Given the description of an element on the screen output the (x, y) to click on. 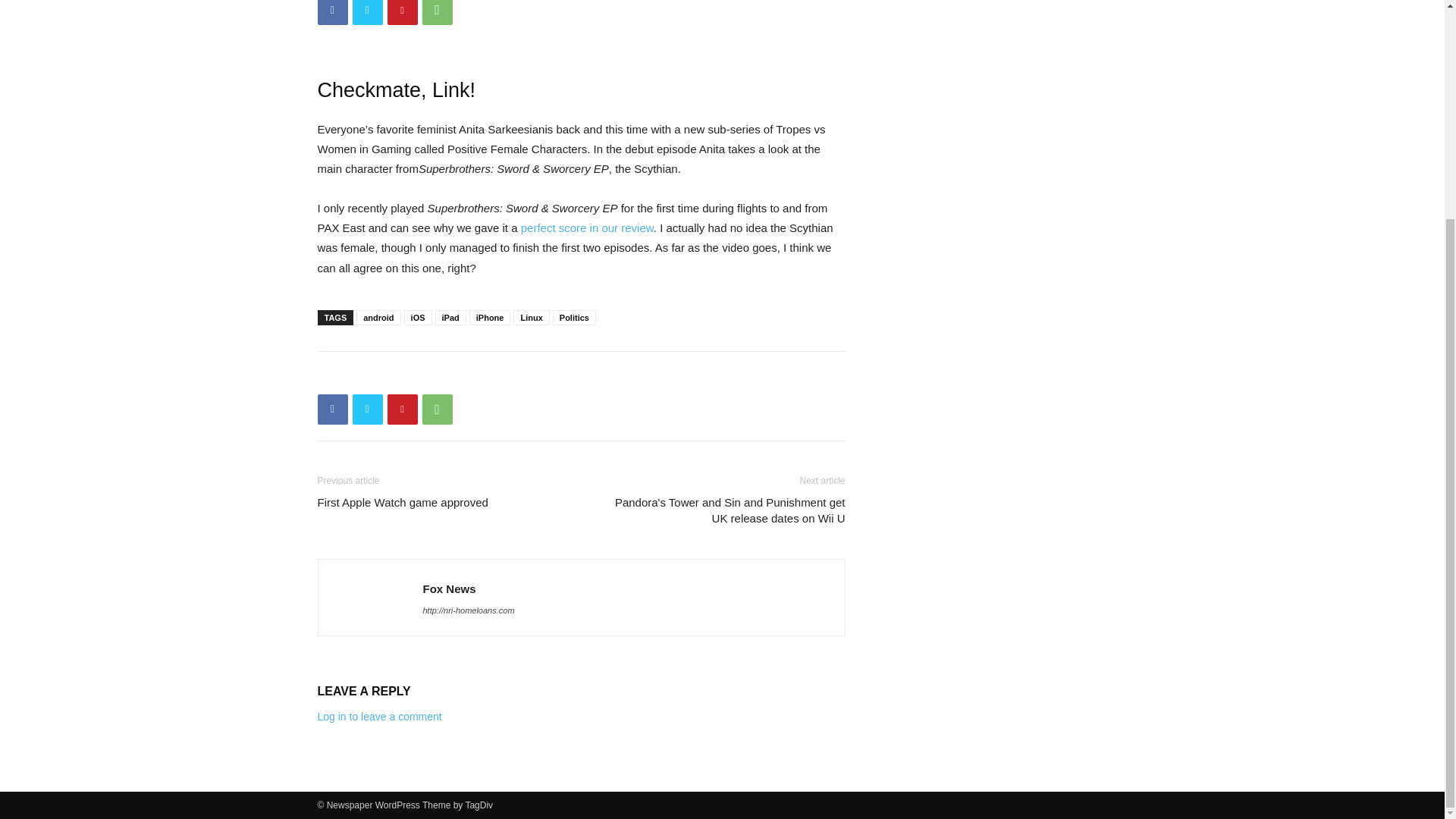
Politics (574, 317)
Facebook (332, 12)
bottomFacebookLike (430, 375)
iOS (418, 317)
iPhone (489, 317)
Linux (530, 317)
Twitter (366, 409)
WhatsApp (436, 409)
First Apple Watch game approved (402, 502)
Twitter (366, 12)
perfect score in our review (587, 227)
Facebook (332, 409)
iPad (450, 317)
android (378, 317)
